Given the description of an element on the screen output the (x, y) to click on. 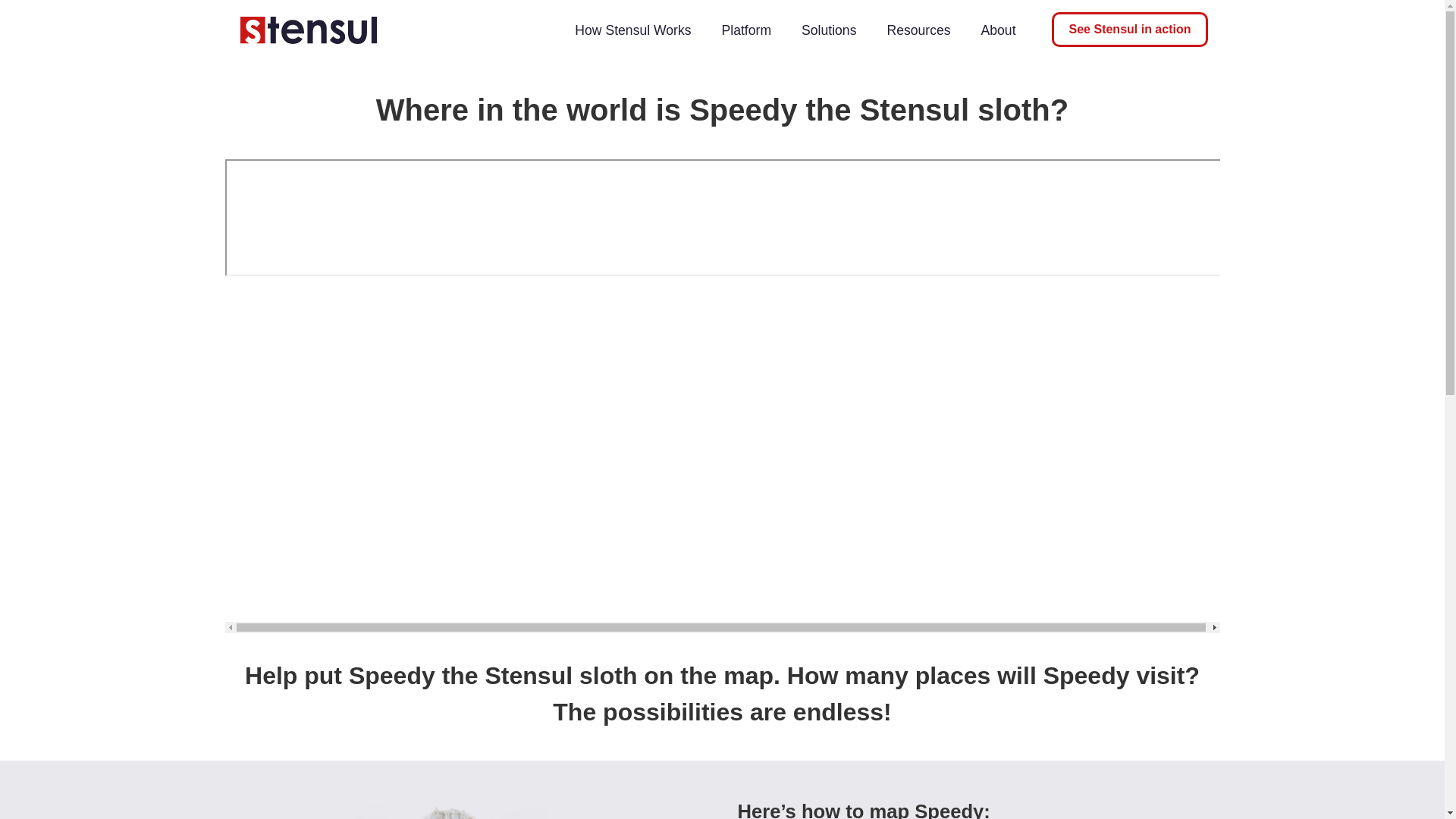
Solutions (828, 29)
Platform (746, 29)
About (998, 29)
Resources (917, 29)
How Stensul Works (632, 29)
